Given the description of an element on the screen output the (x, y) to click on. 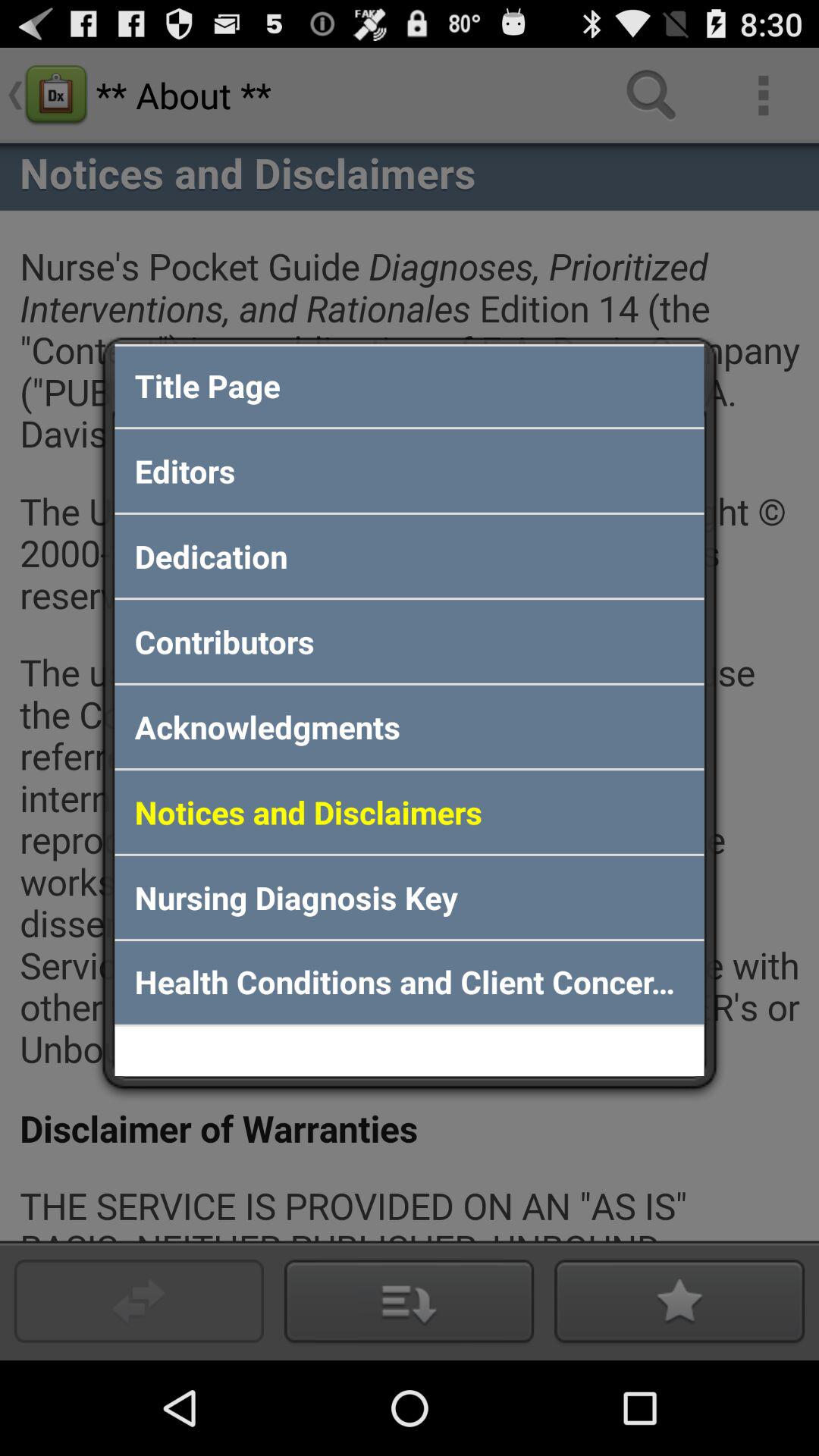
click the editors icon (409, 470)
